Given the description of an element on the screen output the (x, y) to click on. 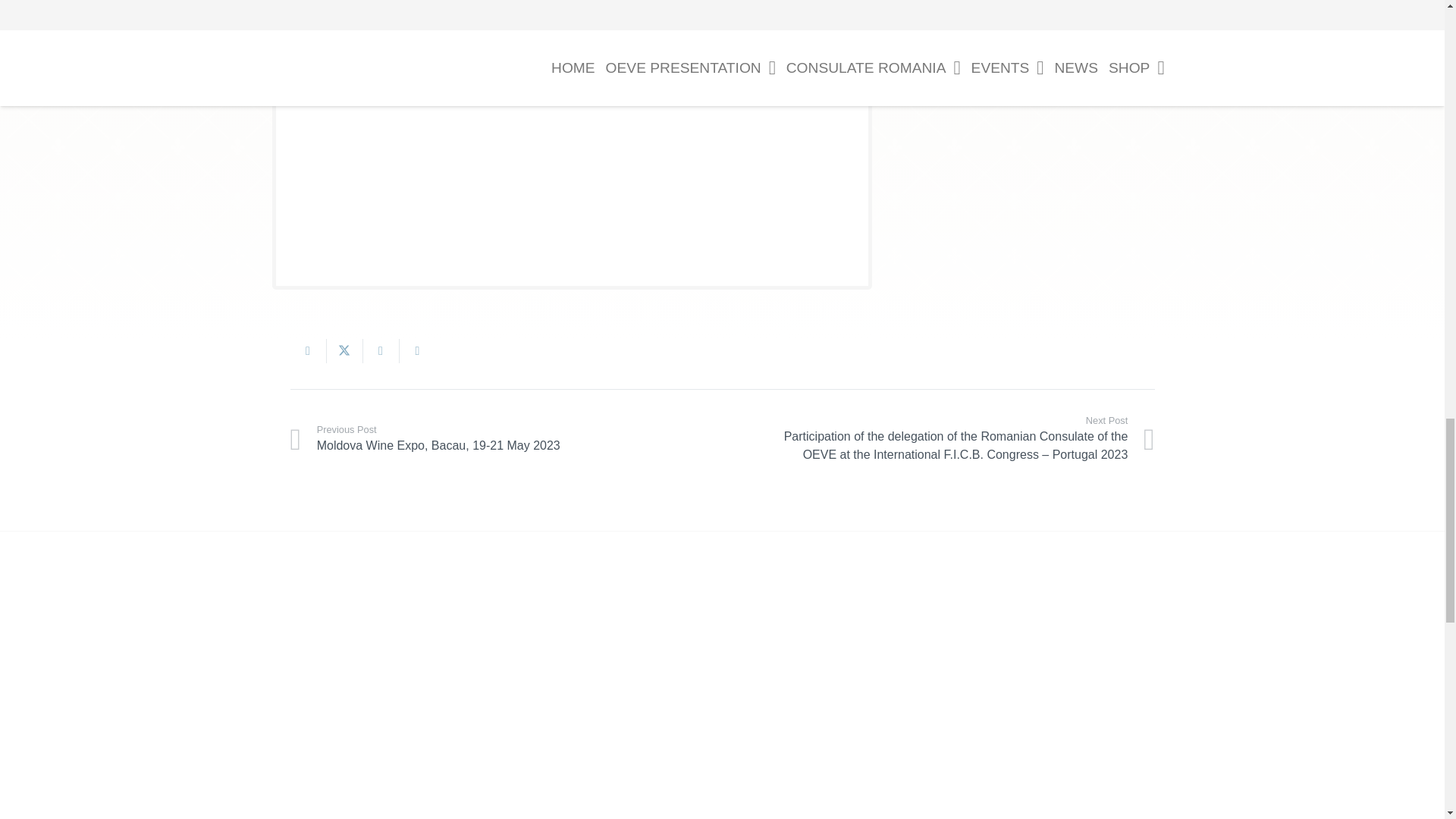
Tweet this (344, 351)
Moldova Wine Expo, Bacau, 19-21 May 2023 (505, 438)
Share this (307, 351)
Pin this (416, 351)
Share this (380, 351)
